Given the description of an element on the screen output the (x, y) to click on. 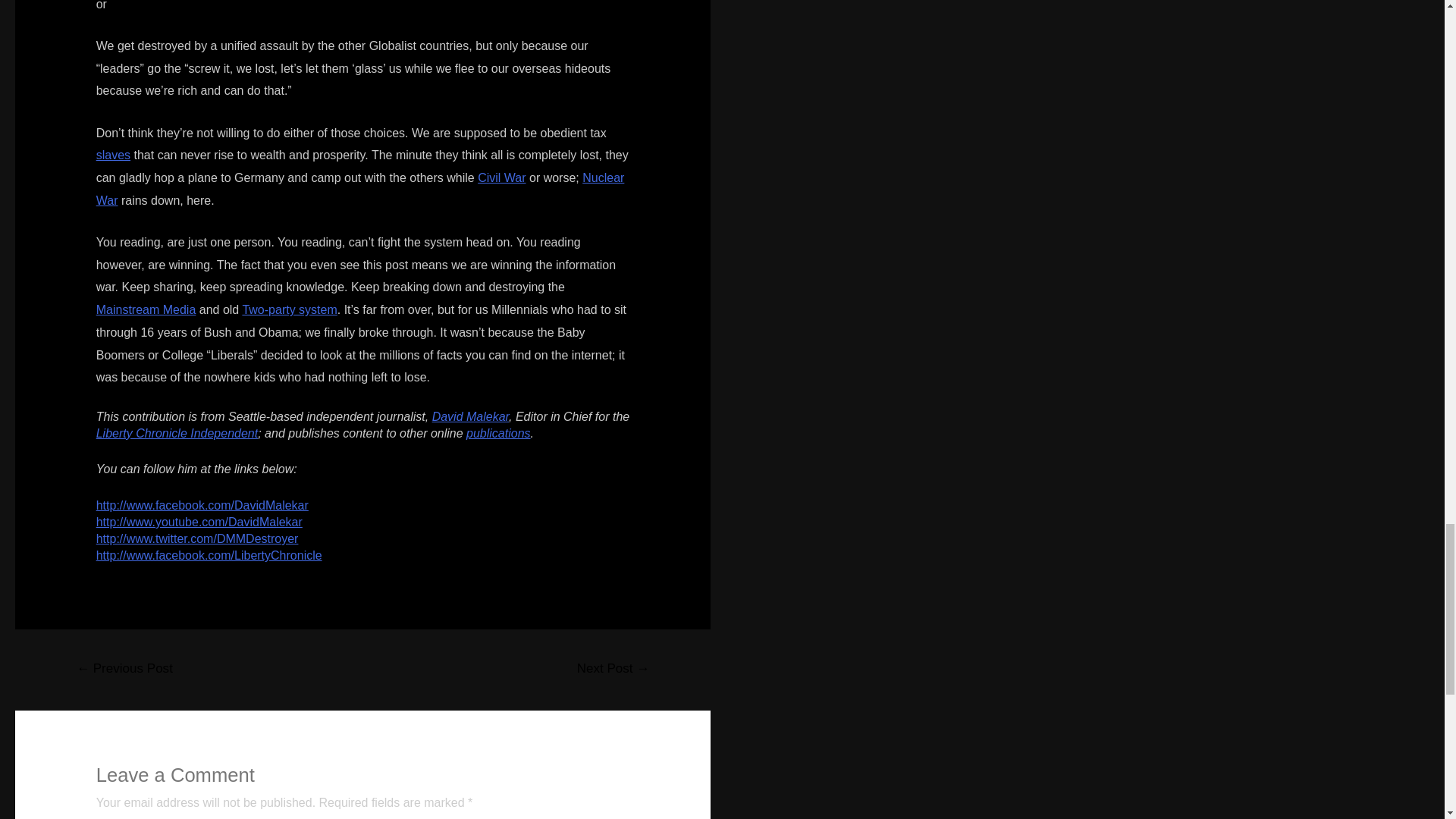
Mainstream Media (146, 309)
Two-party system (288, 309)
Nuclear War (360, 189)
slaves (113, 154)
David Malekar (470, 415)
Liberty Chronicle Independent (176, 432)
Civil War (501, 177)
